Given the description of an element on the screen output the (x, y) to click on. 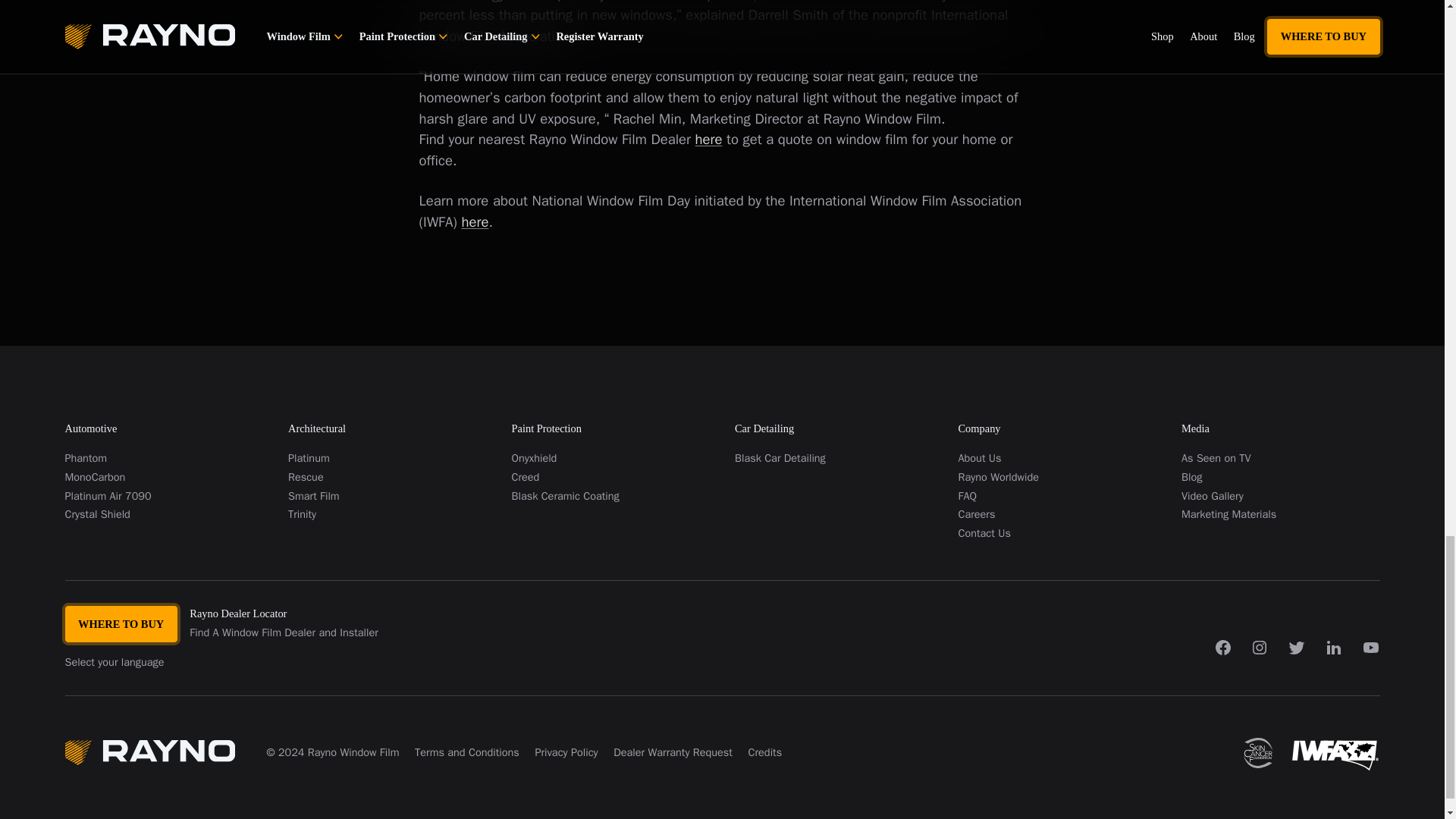
MonoCarbon (164, 476)
Platinum (387, 457)
Crystal Shield (164, 514)
Phantom (164, 457)
Platinum Air 7090 (164, 496)
